Given the description of an element on the screen output the (x, y) to click on. 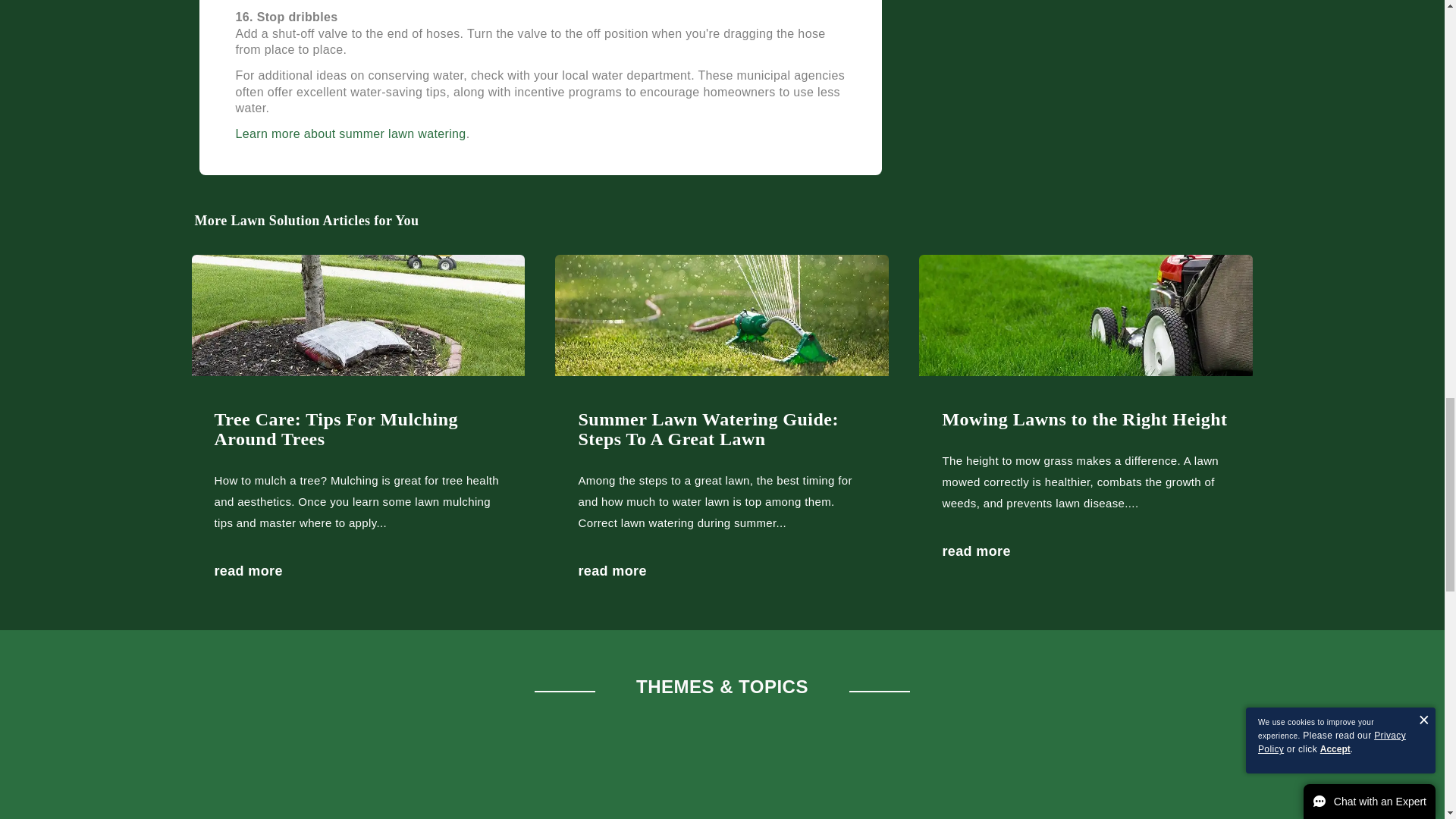
read more (612, 570)
Learn more about summer lawn watering (349, 133)
read more (976, 551)
read more (248, 570)
